Given the description of an element on the screen output the (x, y) to click on. 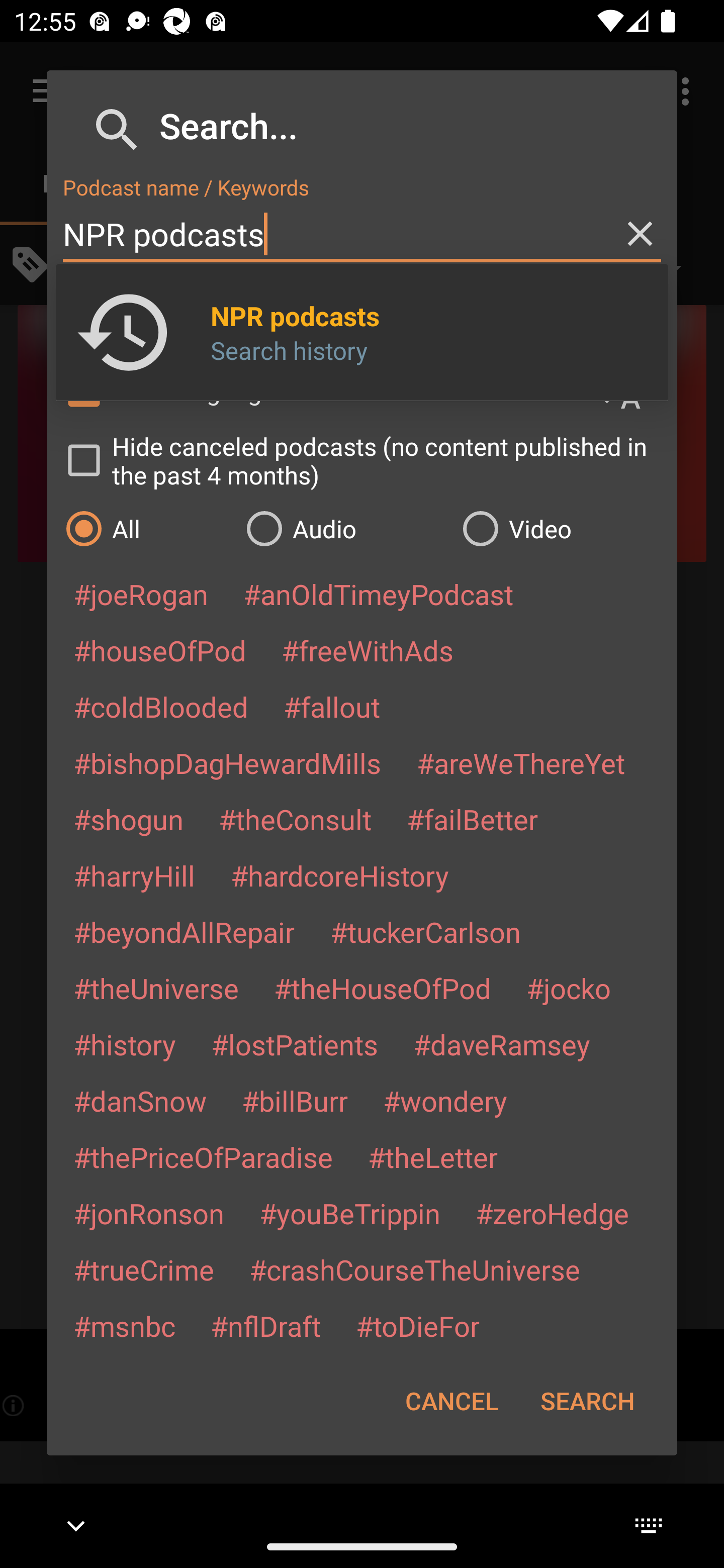
NPR podcasts (361, 234)
All (145, 528)
Audio (344, 528)
Video (560, 528)
#joeRogan (140, 594)
#anOldTimeyPodcast (378, 594)
#houseOfPod (159, 650)
#freeWithAds (367, 650)
#coldBlooded (160, 705)
#fallout (331, 705)
#bishopDagHewardMills (227, 762)
#areWeThereYet (521, 762)
#shogun (128, 818)
#theConsult (294, 818)
#failBetter (471, 818)
#harryHill (134, 875)
#hardcoreHistory (339, 875)
#beyondAllRepair (184, 931)
#tuckerCarlson (425, 931)
#theUniverse (155, 987)
#theHouseOfPod (381, 987)
#jocko (568, 987)
#history (124, 1044)
#lostPatients (294, 1044)
#daveRamsey (501, 1044)
#danSnow (139, 1100)
#billBurr (294, 1100)
#wondery (444, 1100)
#thePriceOfParadise (203, 1157)
#theLetter (432, 1157)
#jonRonson (148, 1213)
#youBeTrippin (349, 1213)
#zeroHedge (552, 1213)
#trueCrime (143, 1268)
#crashCourseTheUniverse (414, 1268)
#msnbc (124, 1325)
#nflDraft (265, 1325)
#toDieFor (417, 1325)
CANCEL (451, 1400)
SEARCH (587, 1400)
